Given the description of an element on the screen output the (x, y) to click on. 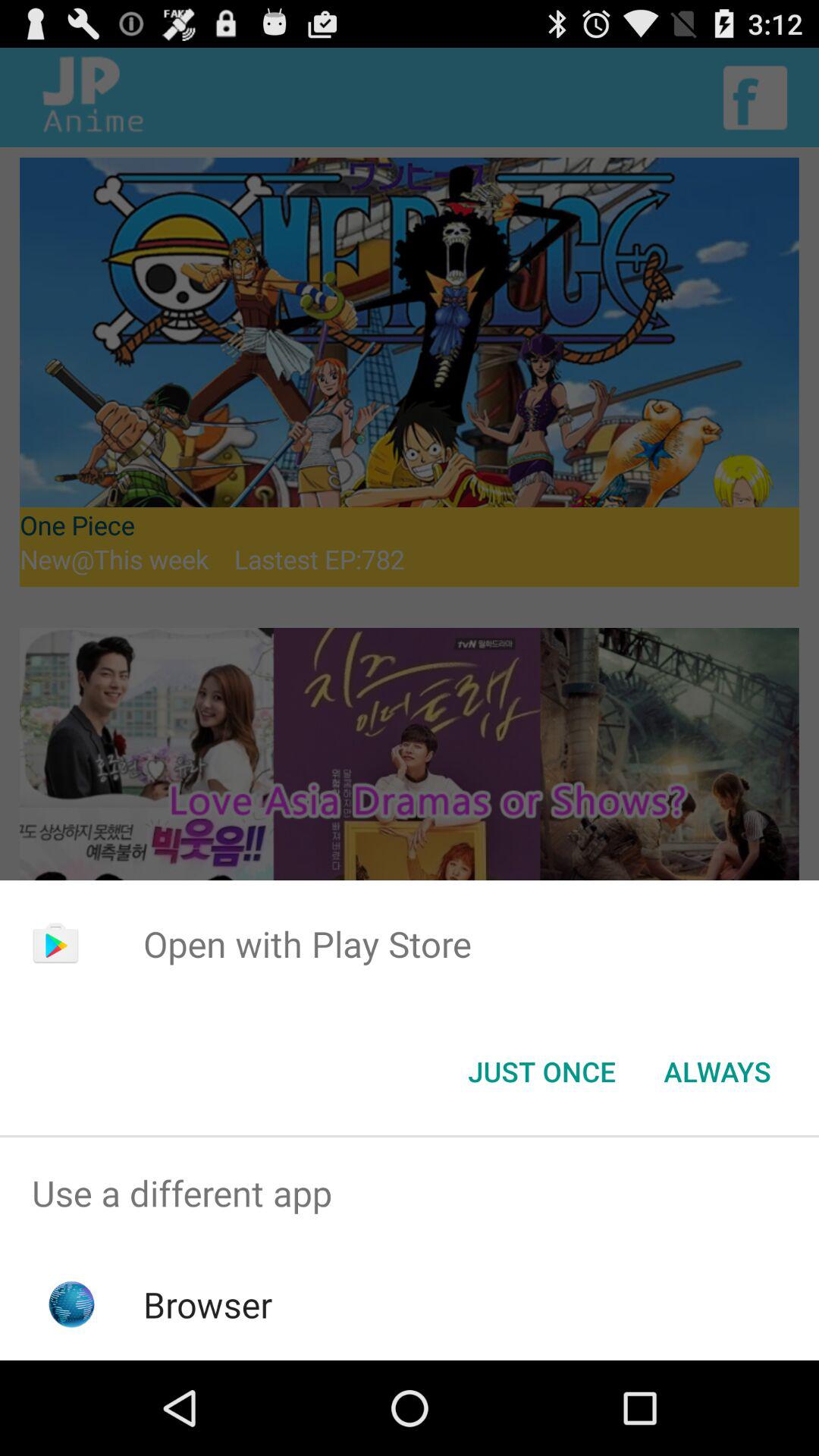
tap button to the right of the just once icon (717, 1071)
